Given the description of an element on the screen output the (x, y) to click on. 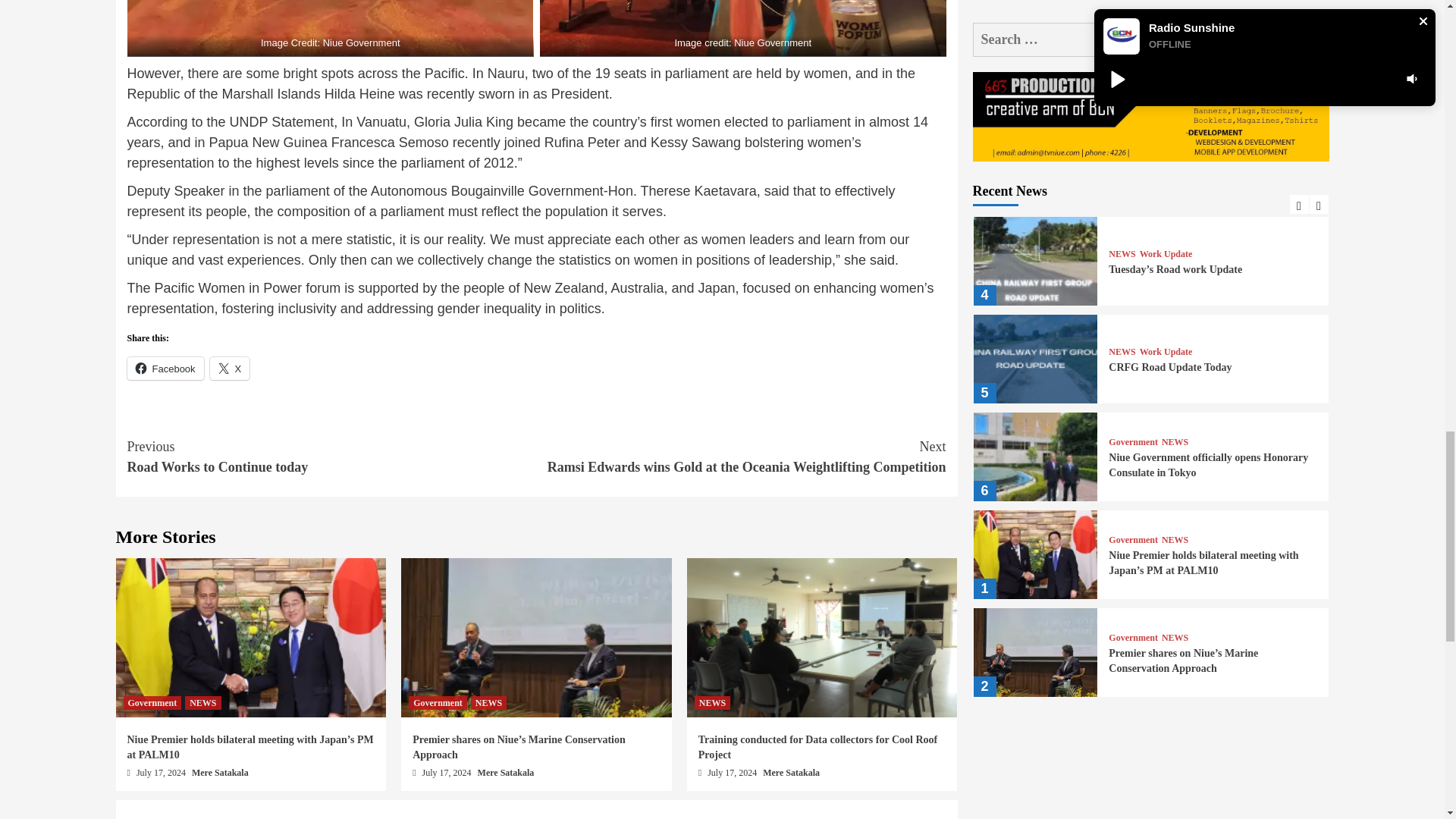
Government (151, 703)
Government (438, 703)
NEWS (712, 703)
Click to share on X (229, 368)
Mere Satakala (220, 772)
Mere Satakala (790, 772)
Training conducted for Data collectors for Cool Roof Project (817, 746)
X (229, 368)
Mere Satakala (505, 772)
Facebook (165, 368)
Click to share on Facebook (165, 368)
NEWS (488, 703)
NEWS (202, 703)
